Given the description of an element on the screen output the (x, y) to click on. 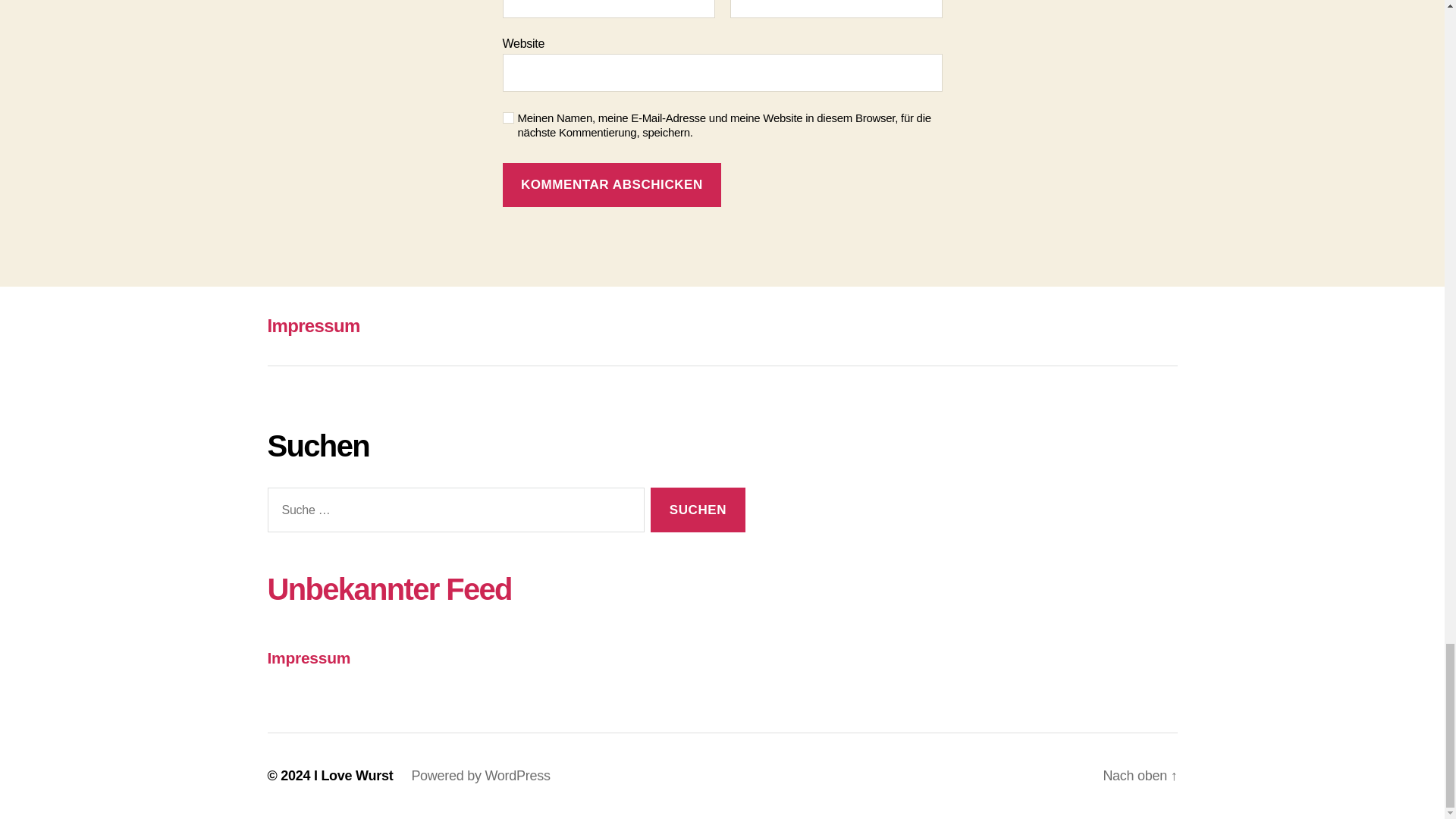
yes (507, 117)
Kommentar abschicken (611, 185)
Suchen (697, 509)
Suchen (697, 509)
